Given the description of an element on the screen output the (x, y) to click on. 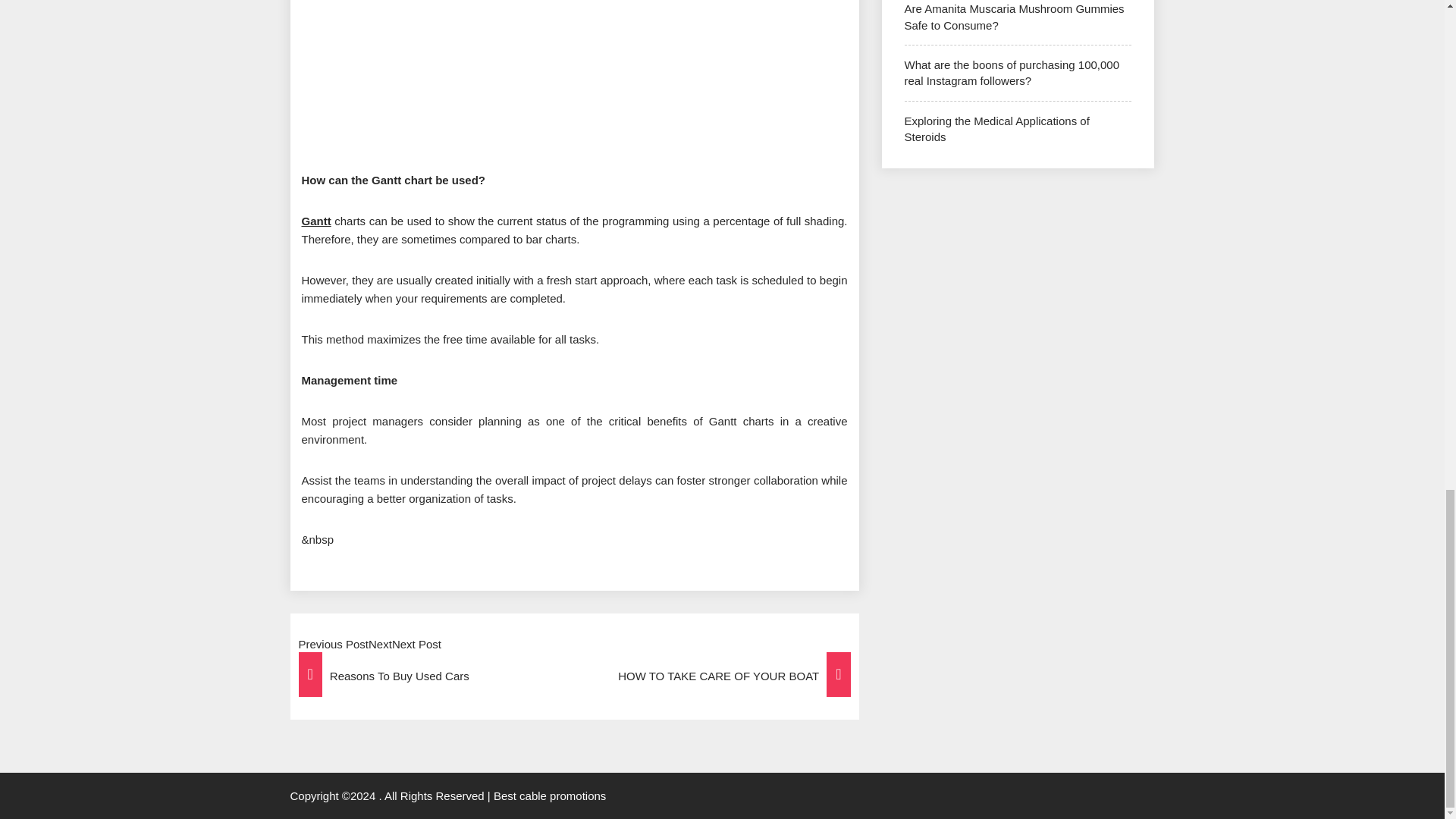
Are Amanita Muscaria Mushroom Gummies Safe to Consume? (1014, 16)
Exploring the Medical Applications of Steroids (996, 128)
Gantt (316, 220)
